Given the description of an element on the screen output the (x, y) to click on. 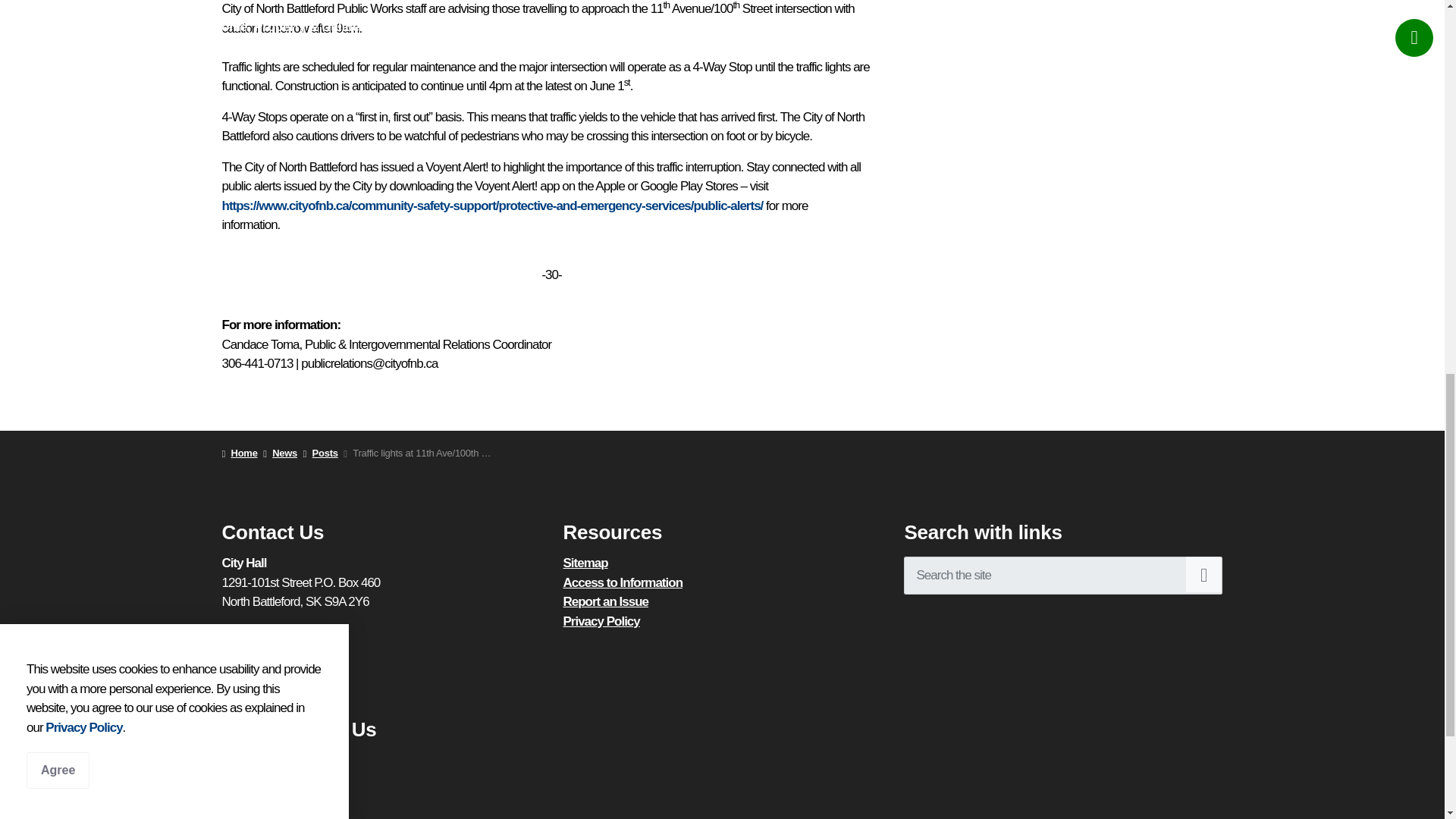
Access to Information Requests (622, 582)
Sitemap (584, 563)
Privacy Policy (600, 621)
Report an Issue (604, 601)
